Given the description of an element on the screen output the (x, y) to click on. 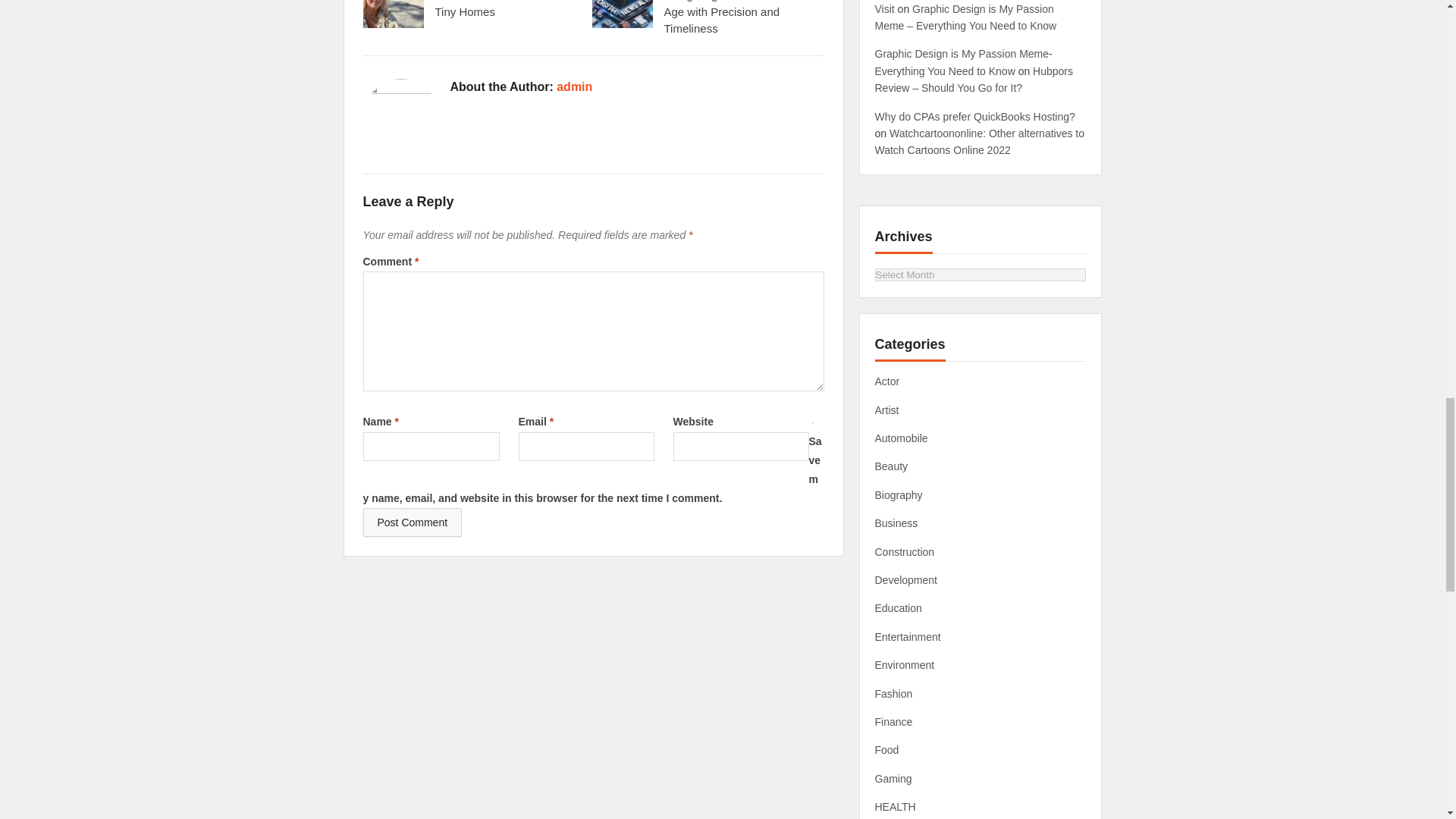
What Happened To Amanda From Incredible Tiny Homes (497, 9)
Post Comment (411, 522)
